Given the description of an element on the screen output the (x, y) to click on. 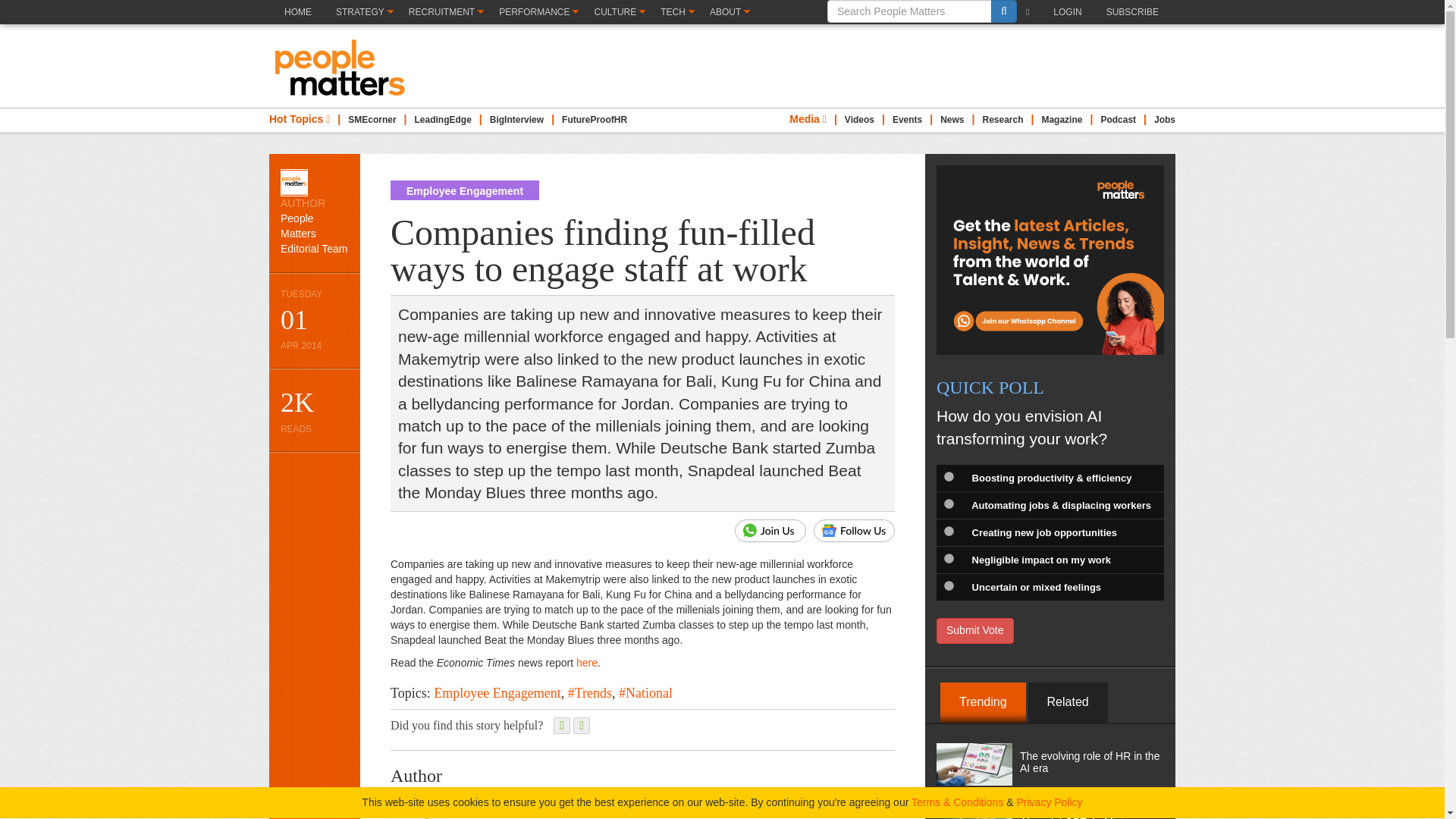
320 (948, 476)
322 (948, 531)
323 (948, 558)
RECRUITMENT (445, 12)
STRATEGY (363, 12)
HOME (297, 24)
321 (948, 503)
324 (948, 585)
